Given the description of an element on the screen output the (x, y) to click on. 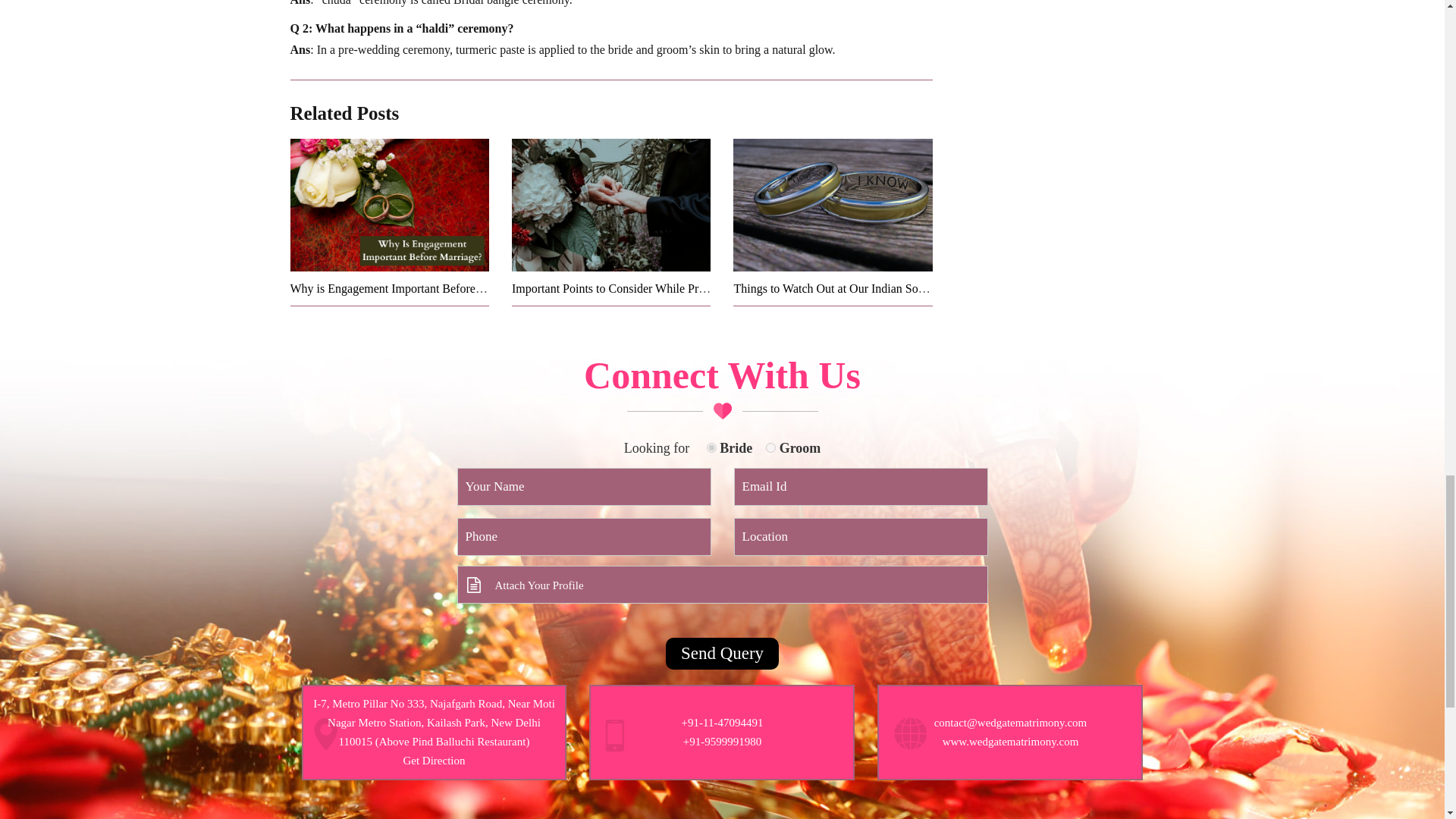
Send Query (721, 653)
Why is Engagement Important Before Marriage? (408, 287)
Bride (711, 447)
Groom (770, 447)
